Given the description of an element on the screen output the (x, y) to click on. 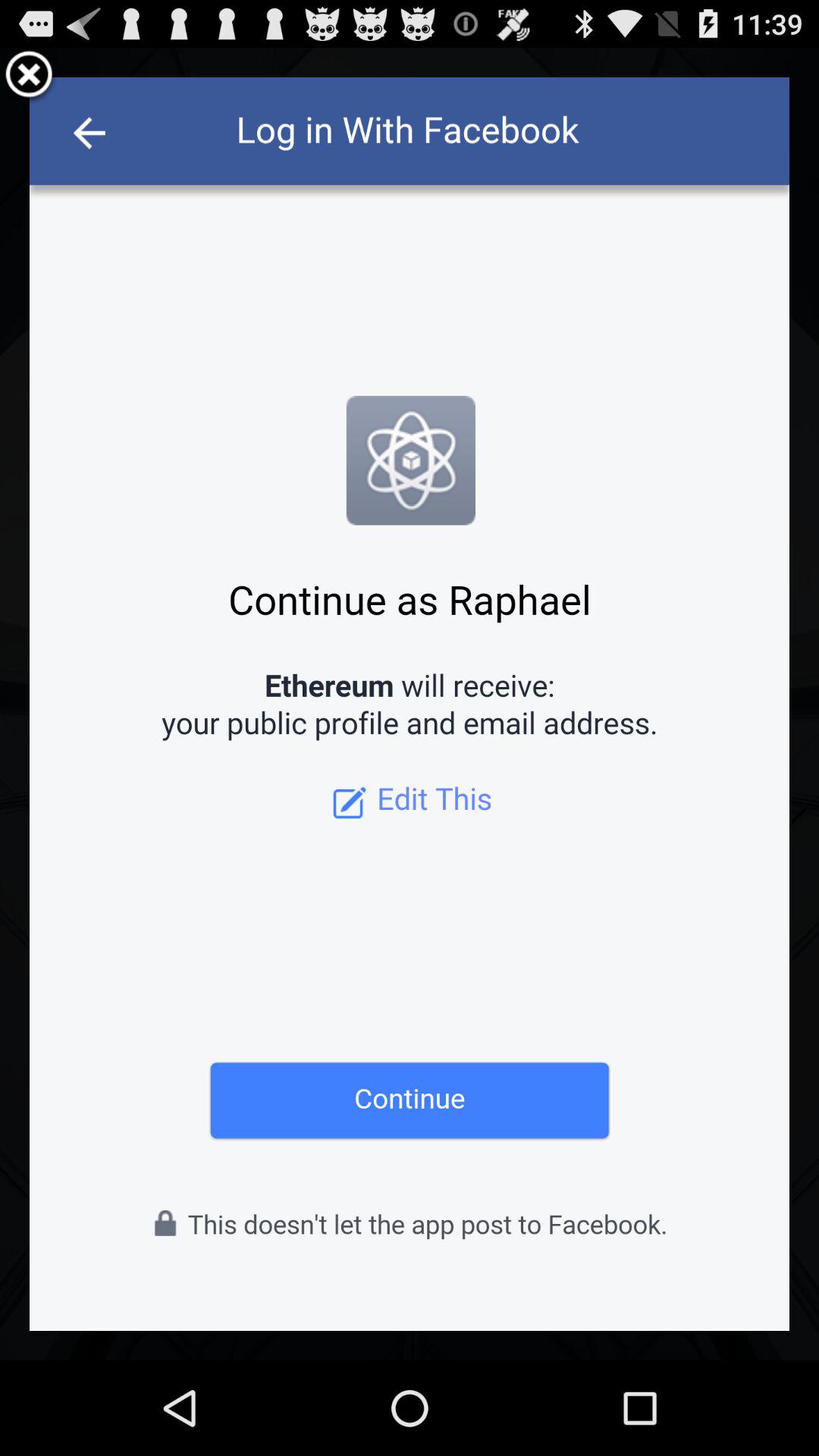
go to close patturn (29, 76)
